Given the description of an element on the screen output the (x, y) to click on. 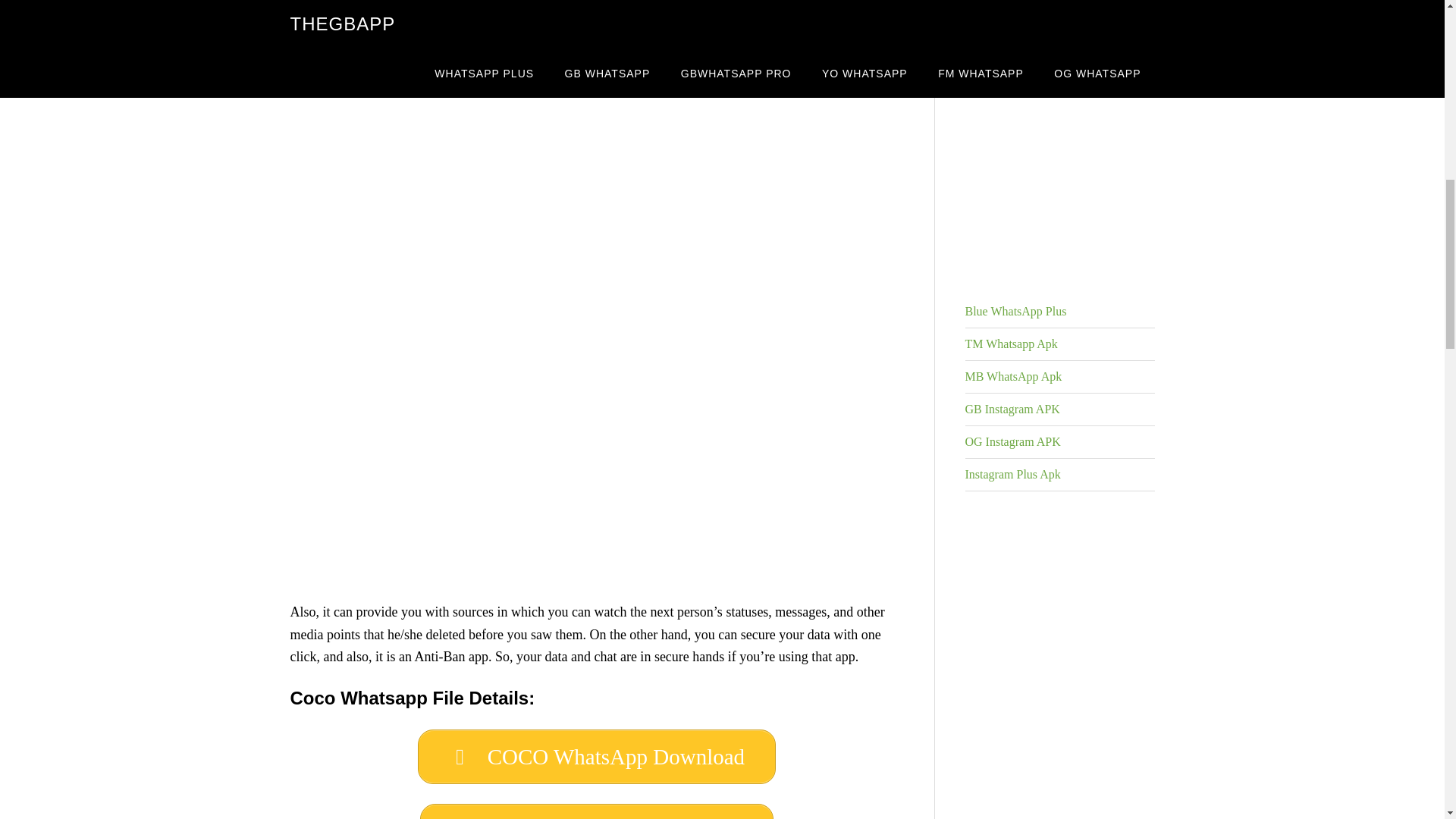
Download COCOWhatsApp (596, 811)
Blue WhatsApp Plus (1014, 310)
GB Instagram APK (1011, 408)
MB WhatsApp Apk (1012, 376)
COCO WhatsApp Download (596, 756)
TM Whatsapp Apk (1010, 343)
